Given the description of an element on the screen output the (x, y) to click on. 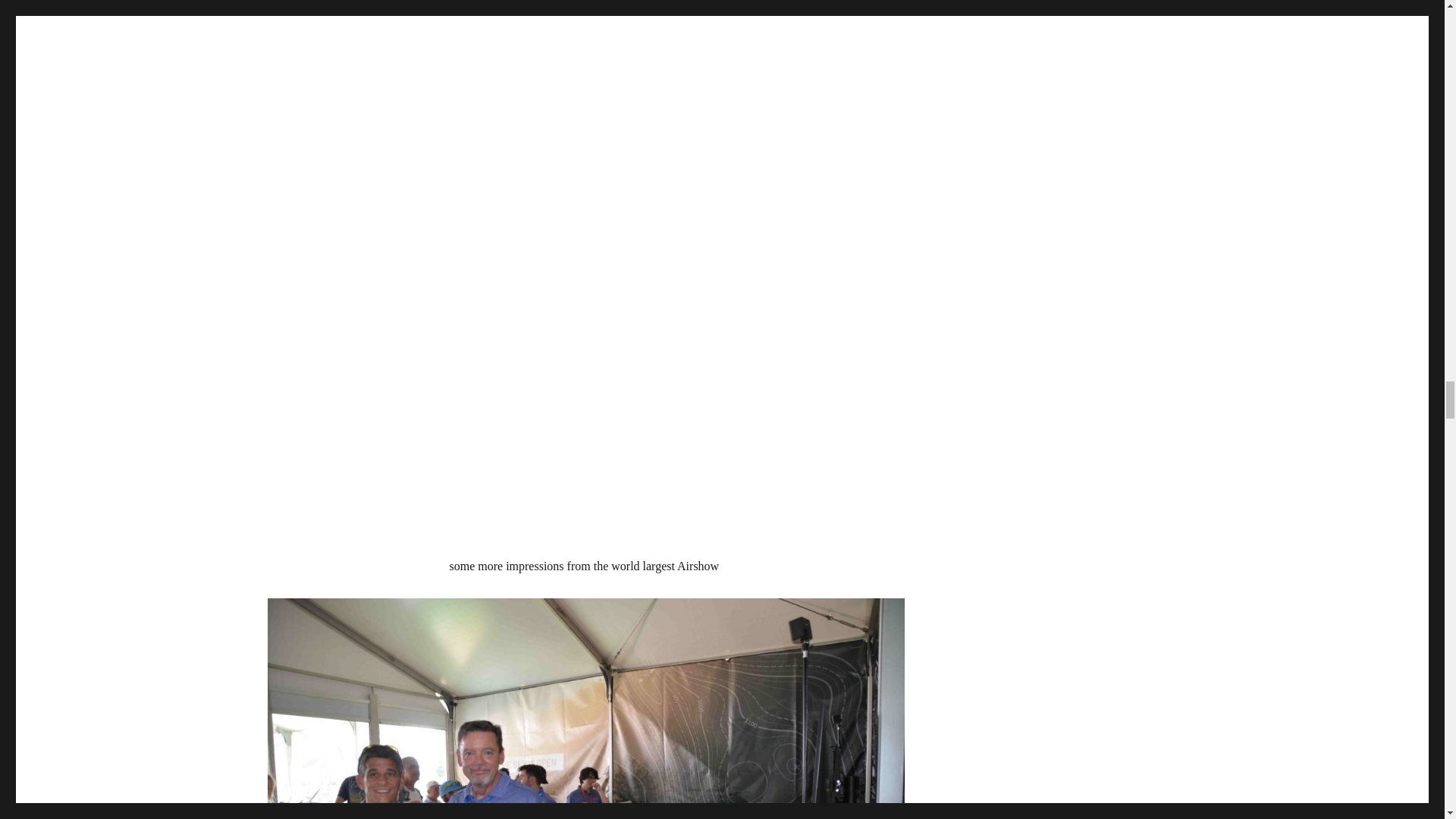
Uncategorized (298, 4)
